Given the description of an element on the screen output the (x, y) to click on. 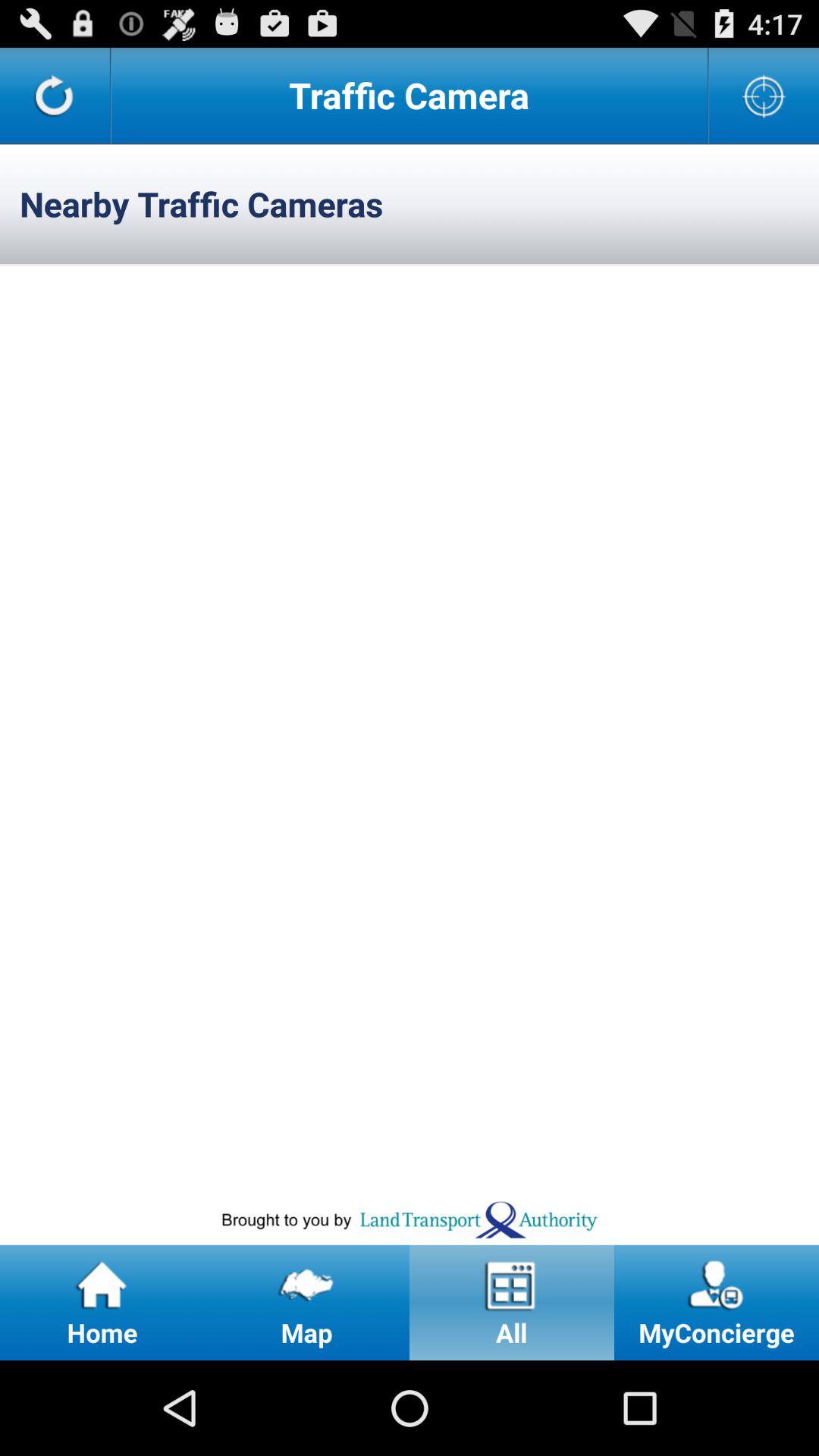
button to access camera (764, 95)
